Given the description of an element on the screen output the (x, y) to click on. 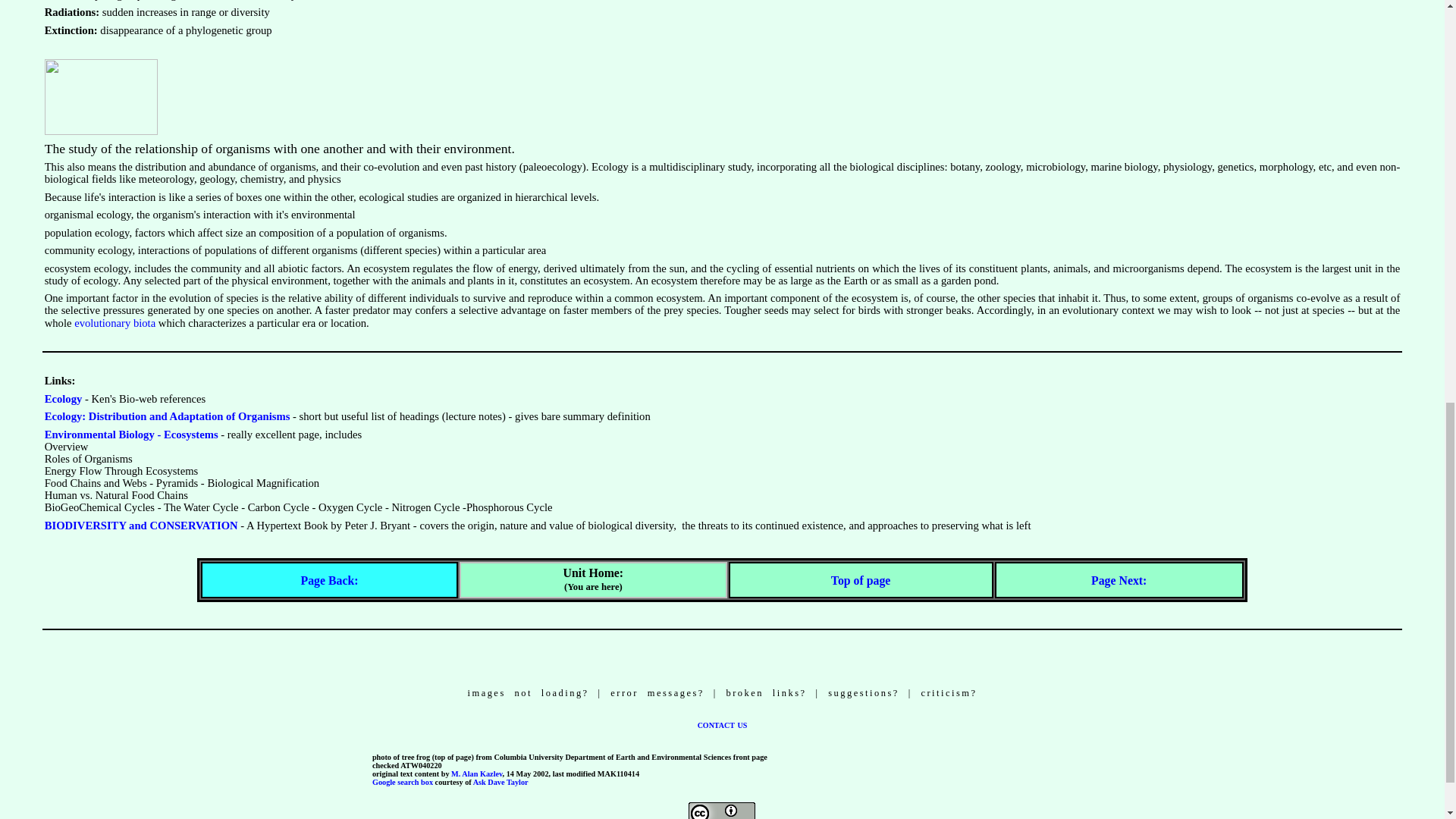
contact us (722, 724)
M. Alan Kazlev (476, 773)
Environmental Biology - Ecosystems (131, 434)
Ecology (63, 398)
BIODIVERSITY and CONSERVATION (141, 525)
Ecology: Distribution and Adaptation of Organisms (167, 416)
evolutionary biota (114, 322)
